Given the description of an element on the screen output the (x, y) to click on. 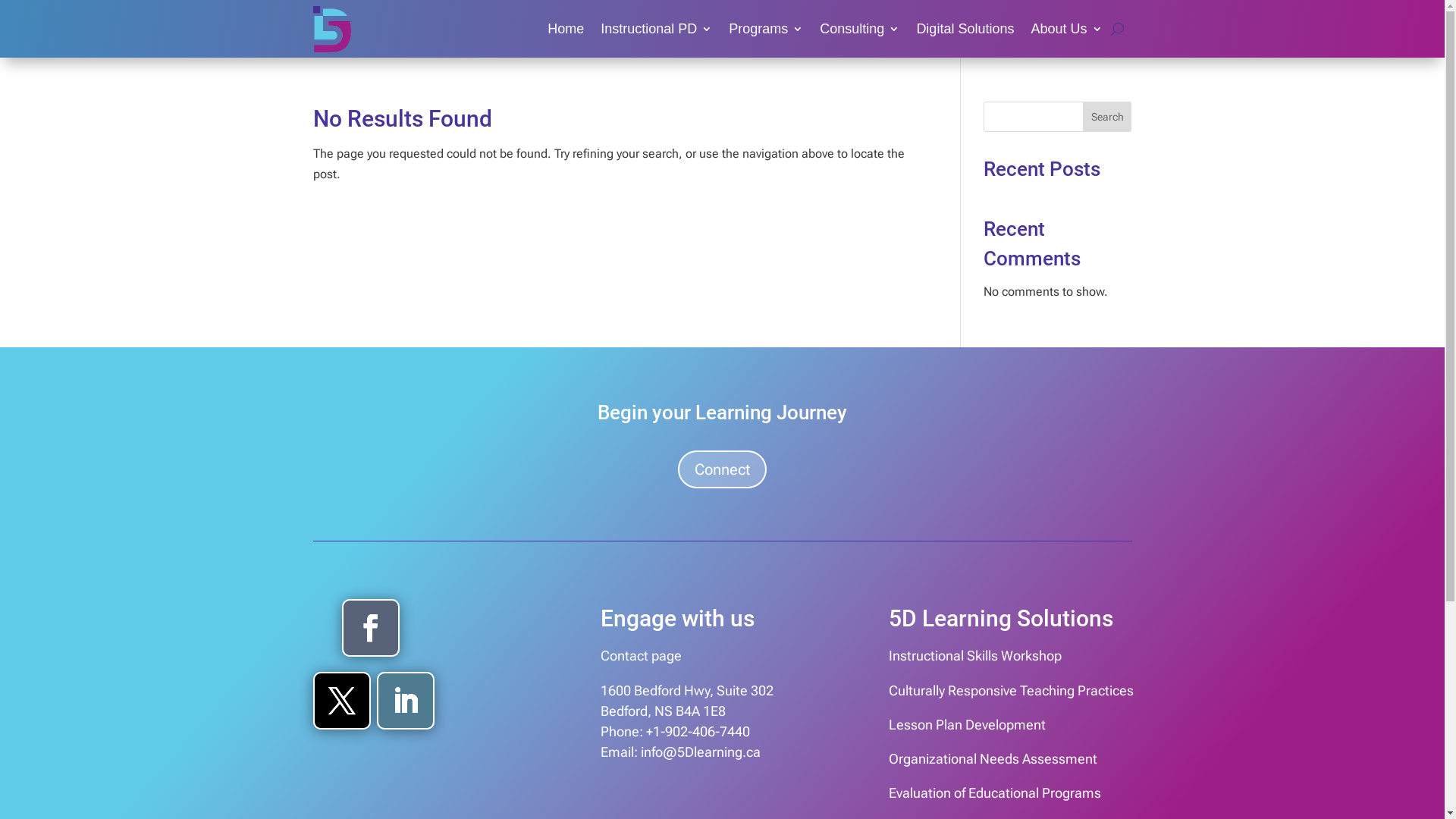
Home Element type: text (565, 28)
  Element type: text (638, 751)
Consulting Element type: text (859, 28)
Organizational Needs Assessment Element type: text (992, 758)
Search Element type: text (1107, 116)
Lesson Plan Development Element type: text (966, 724)
Follow on X Element type: hover (341, 700)
info@5Dlearning.ca Element type: text (700, 751)
Programs Element type: text (765, 28)
Instructional PD Element type: text (656, 28)
Digital Solutions Element type: text (964, 28)
Connect Element type: text (721, 469)
Phone: +1-902-406-7440 Element type: text (674, 731)
Follow on Facebook Element type: hover (370, 627)
Contact page Element type: text (640, 655)
Evaluation of Educational Programs Element type: text (994, 792)
Email: Element type: text (618, 751)
About Us Element type: text (1065, 28)
Follow on LinkedIn Element type: hover (405, 700)
Culturally Responsive Teaching Practices Element type: text (1010, 690)
Instructional Skills Workshop Element type: text (974, 655)
